Given the description of an element on the screen output the (x, y) to click on. 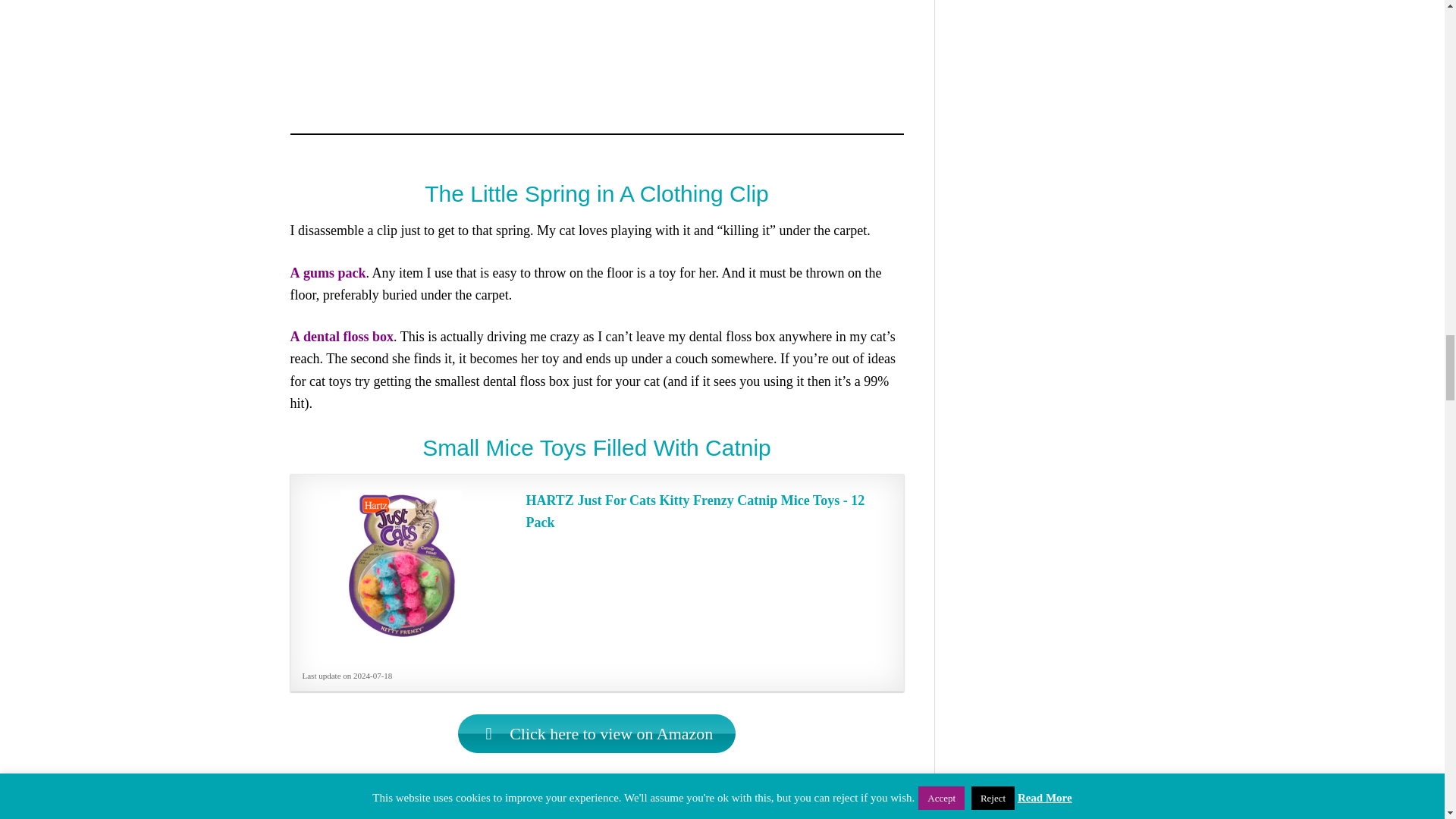
Click here to view on Amazon (597, 733)
HARTZ Just For Cats Kitty Frenzy Catnip Mice Toys - 12 Pack (706, 511)
Cat Mice Toys Filled With Catnip (597, 733)
HARTZ Just For Cats Kitty Frenzy Catnip Mice Toys - 12 Pack (400, 565)
HARTZ Just For Cats Kitty Frenzy Catnip Mice Toys - 12 Pack (706, 511)
